Given the description of an element on the screen output the (x, y) to click on. 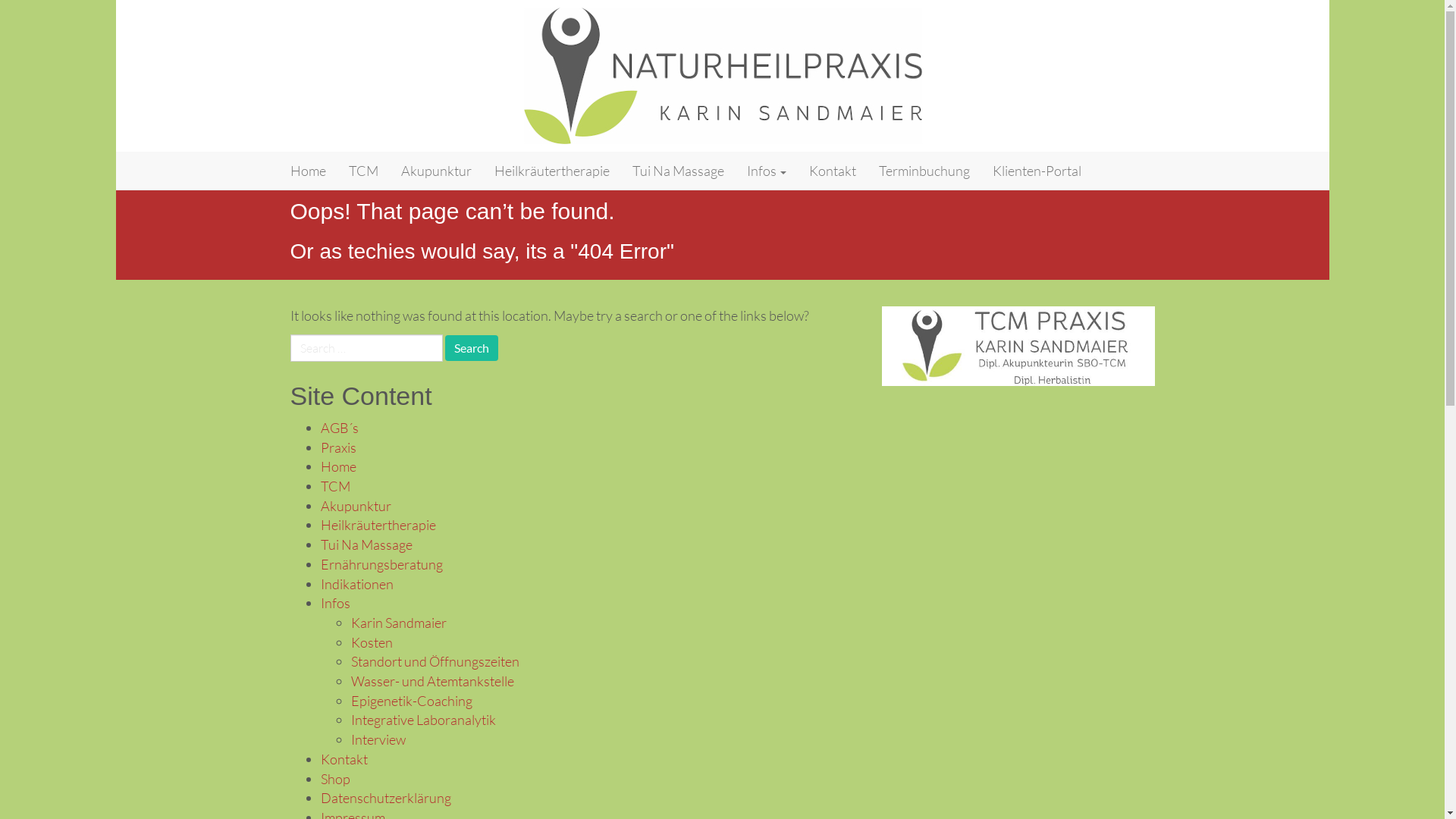
Klienten-Portal Element type: text (1036, 170)
Shop Element type: text (334, 778)
Wasser- und Atemtankstelle Element type: text (431, 680)
Home Element type: text (308, 170)
Interview Element type: text (377, 739)
TCM Element type: text (362, 170)
Kontakt Element type: text (832, 170)
Home Element type: text (337, 466)
Tui Na Massage Element type: text (365, 544)
Infos Element type: text (766, 170)
Integrative Laboranalytik Element type: text (422, 719)
Skip to content Element type: text (115, 150)
Infos Element type: text (334, 602)
Naturheilpraxis Karin Sandmaier Element type: text (397, 170)
Tui Na Massage Element type: text (677, 170)
Search Element type: text (470, 347)
Kosten Element type: text (371, 641)
Epigenetik-Coaching Element type: text (410, 700)
Indikationen Element type: text (356, 583)
Terminbuchung Element type: text (924, 170)
TCM Element type: text (334, 485)
Akupunktur Element type: text (355, 505)
Akupunktur Element type: text (436, 170)
Praxis Element type: text (337, 447)
Kontakt Element type: text (343, 758)
Karin Sandmaier Element type: text (397, 622)
